Given the description of an element on the screen output the (x, y) to click on. 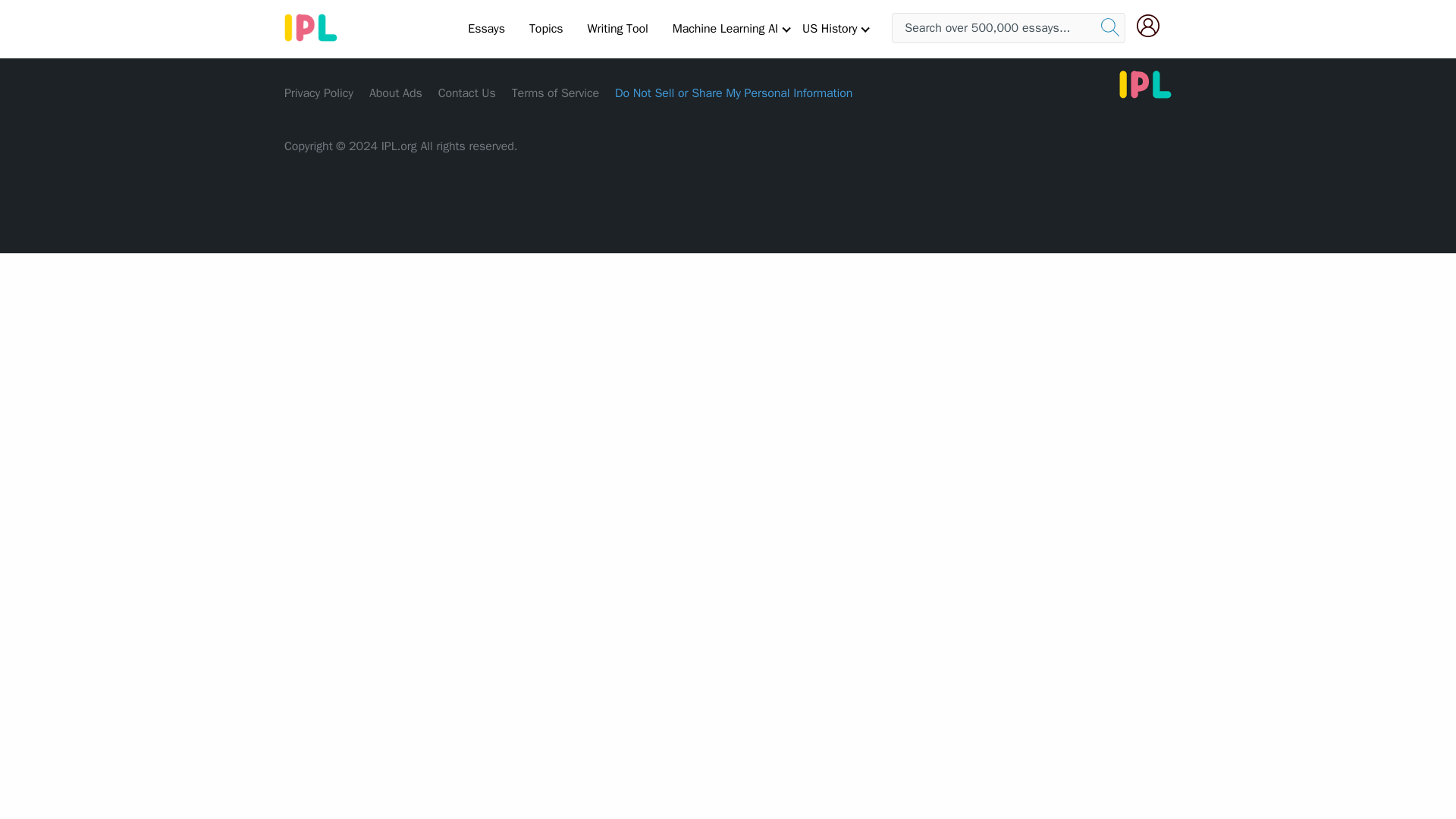
Do Not Sell or Share My Personal Information (732, 92)
About Ads (395, 92)
Writing Tool (617, 28)
US History (829, 28)
Terms of Service (555, 92)
Machine Learning AI (725, 28)
About Ads (395, 92)
Contact Us (467, 92)
Privacy Policy (318, 92)
Essays (485, 28)
Topics (545, 28)
Contact Us (467, 92)
Terms of Service (555, 92)
Privacy Policy (318, 92)
